Given the description of an element on the screen output the (x, y) to click on. 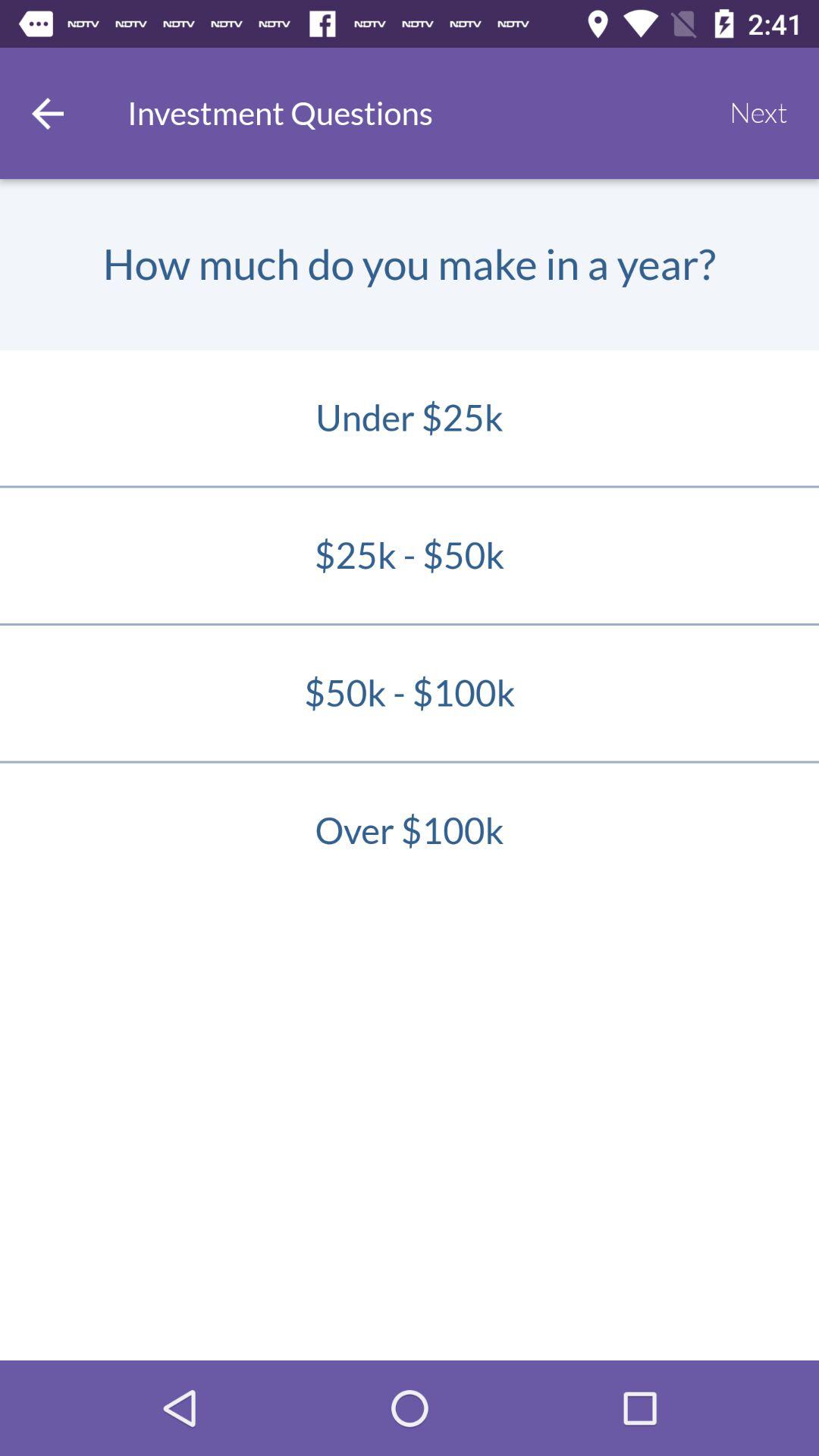
open the icon above under $25k icon (758, 113)
